Given the description of an element on the screen output the (x, y) to click on. 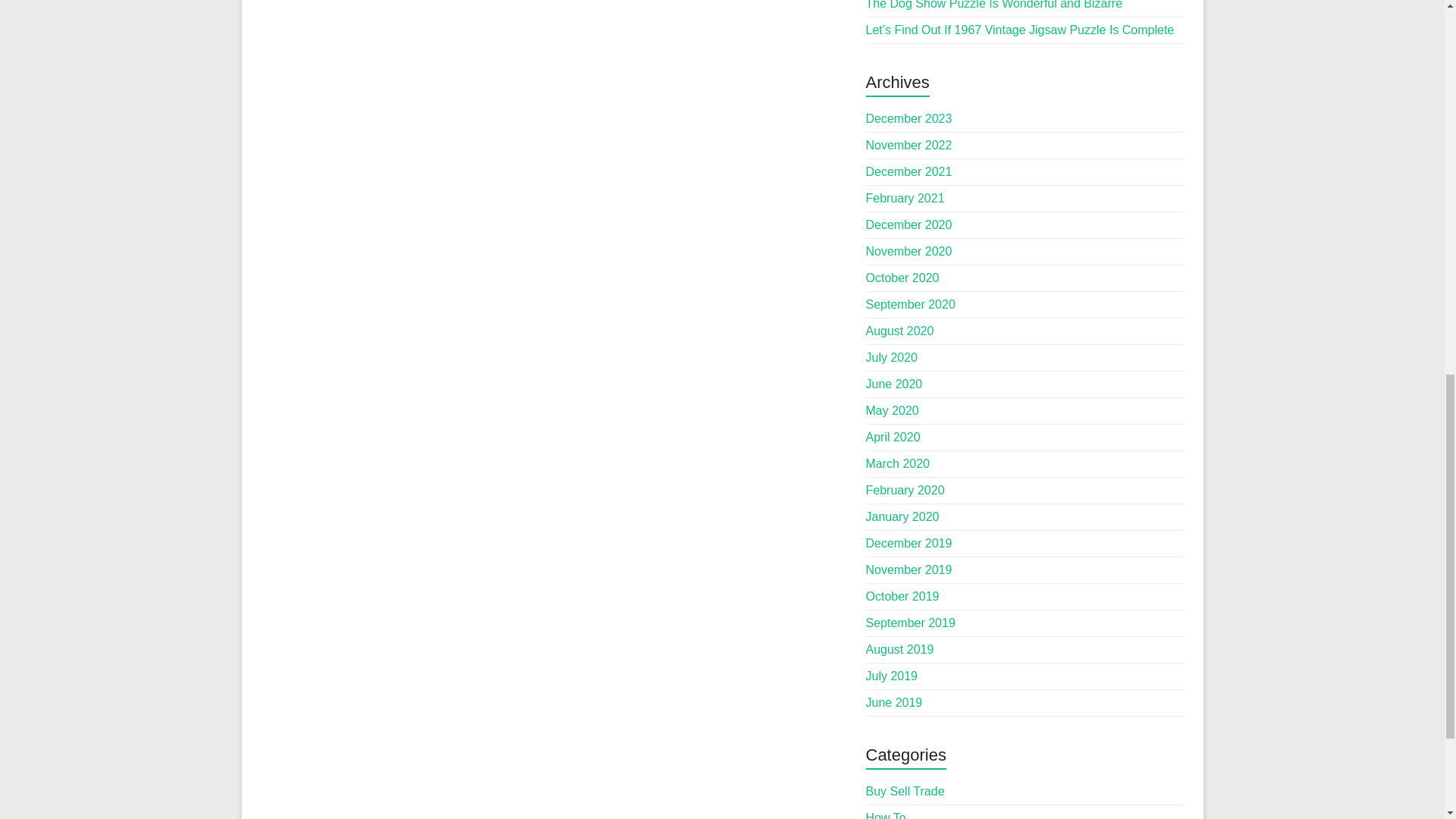
December 2023 (909, 118)
December 2021 (909, 171)
February 2021 (905, 197)
November 2022 (909, 144)
The Dog Show Puzzle Is Wonderful and Bizarre (994, 4)
December 2020 (909, 224)
